Given the description of an element on the screen output the (x, y) to click on. 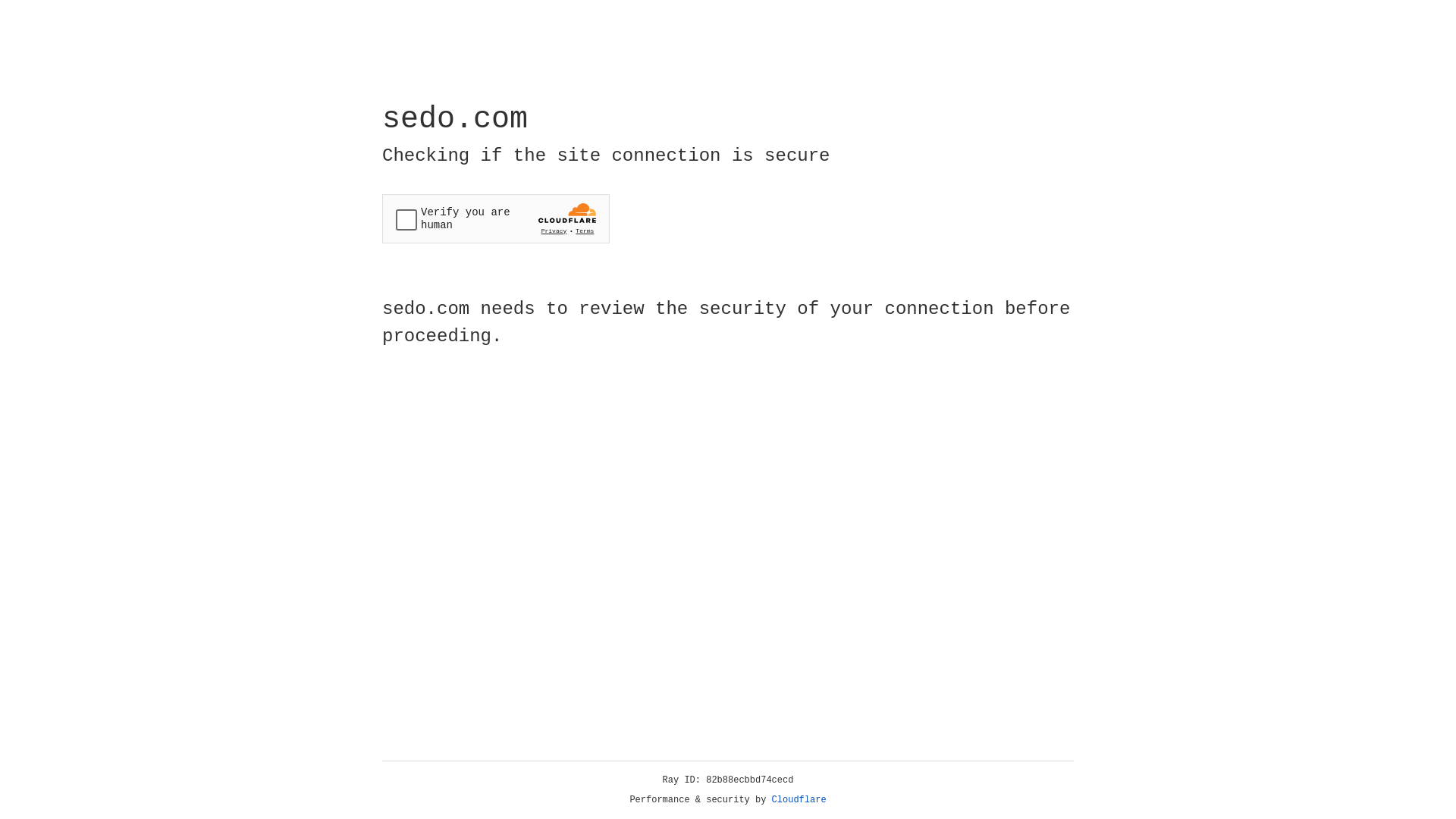
Cloudflare Element type: text (798, 799)
Widget containing a Cloudflare security challenge Element type: hover (495, 218)
